Given the description of an element on the screen output the (x, y) to click on. 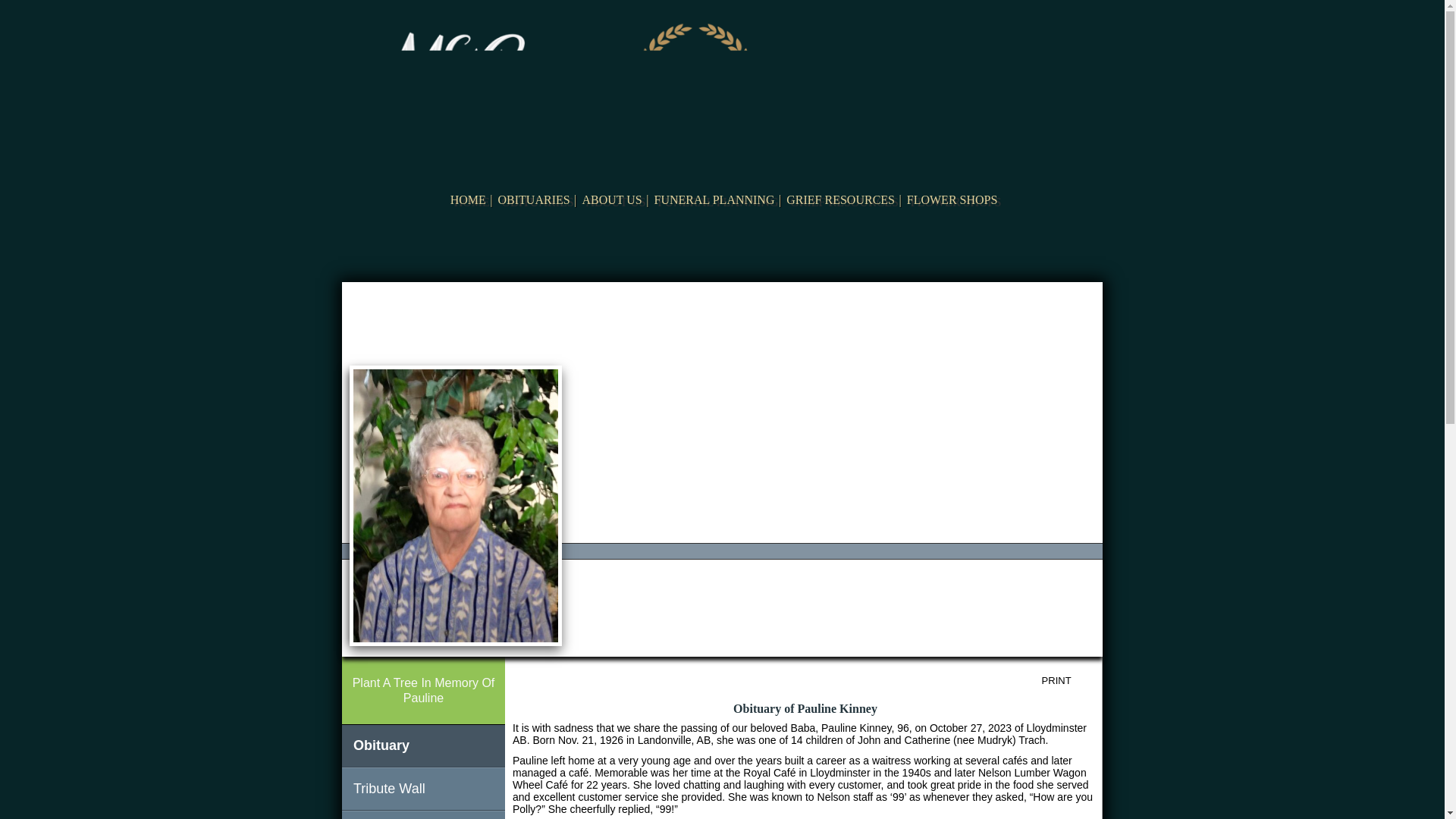
Plant A Tree (423, 689)
FUNERAL PLANNING (713, 200)
Print (1068, 681)
OBITUARIES (533, 200)
GRIEF RESOURCES (840, 200)
ABOUT US (612, 200)
HOME (466, 200)
FLOWER SHOPS (952, 200)
SIGN IN (1071, 298)
